Given the description of an element on the screen output the (x, y) to click on. 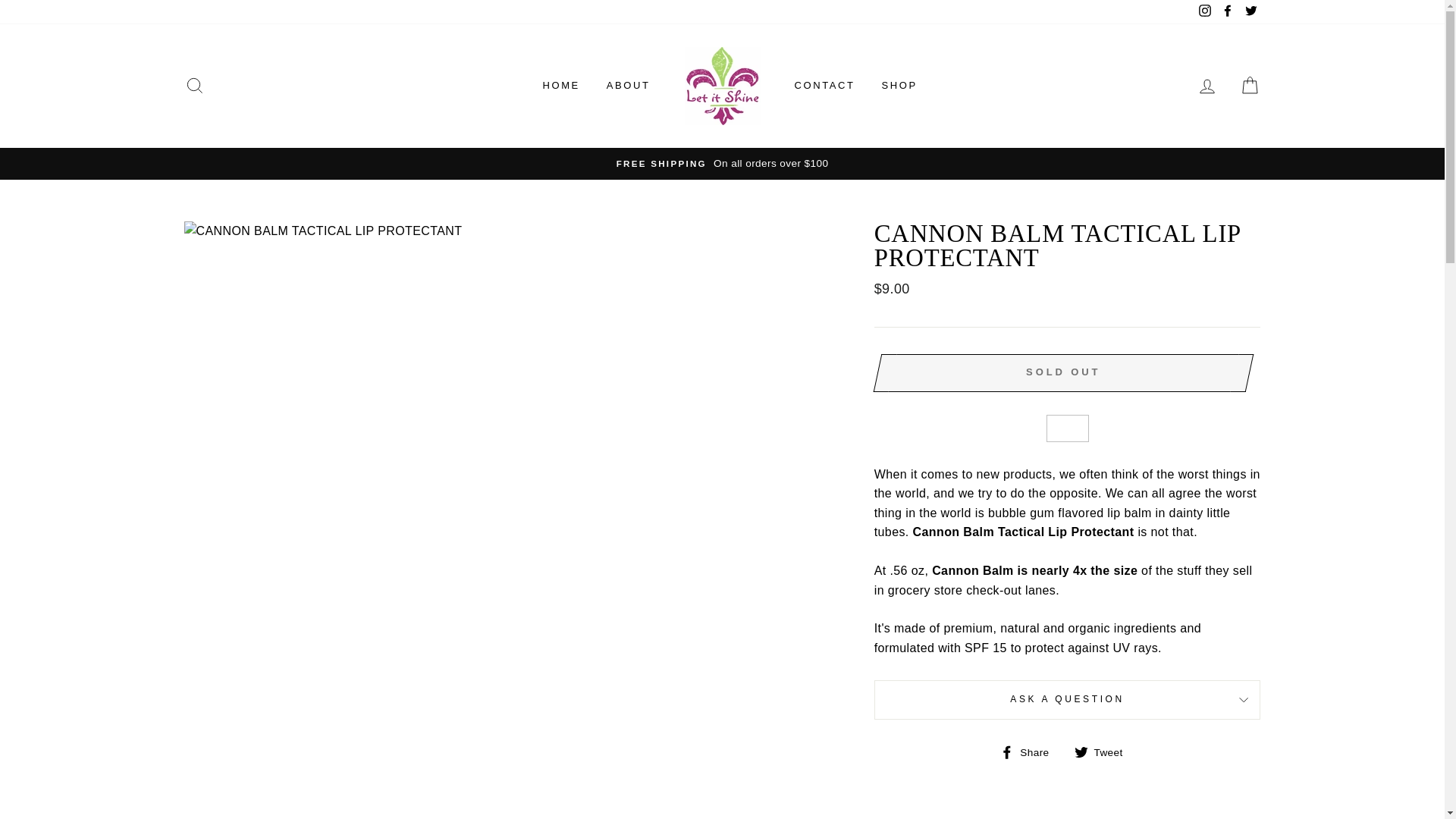
Tweet on Twitter (1104, 752)
Share on Facebook (1029, 752)
